Given the description of an element on the screen output the (x, y) to click on. 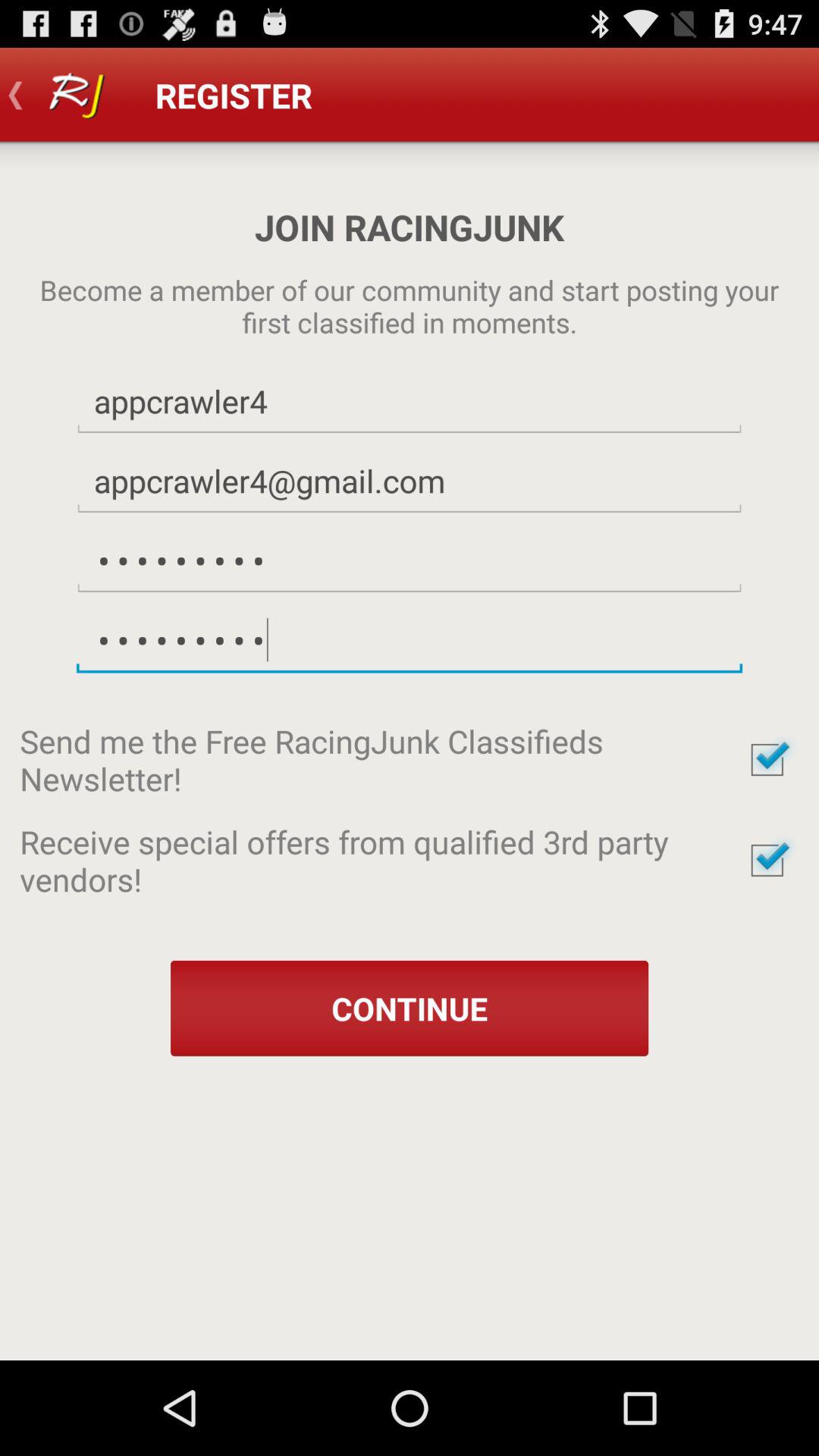
opt in or out for special offers (767, 860)
